Given the description of an element on the screen output the (x, y) to click on. 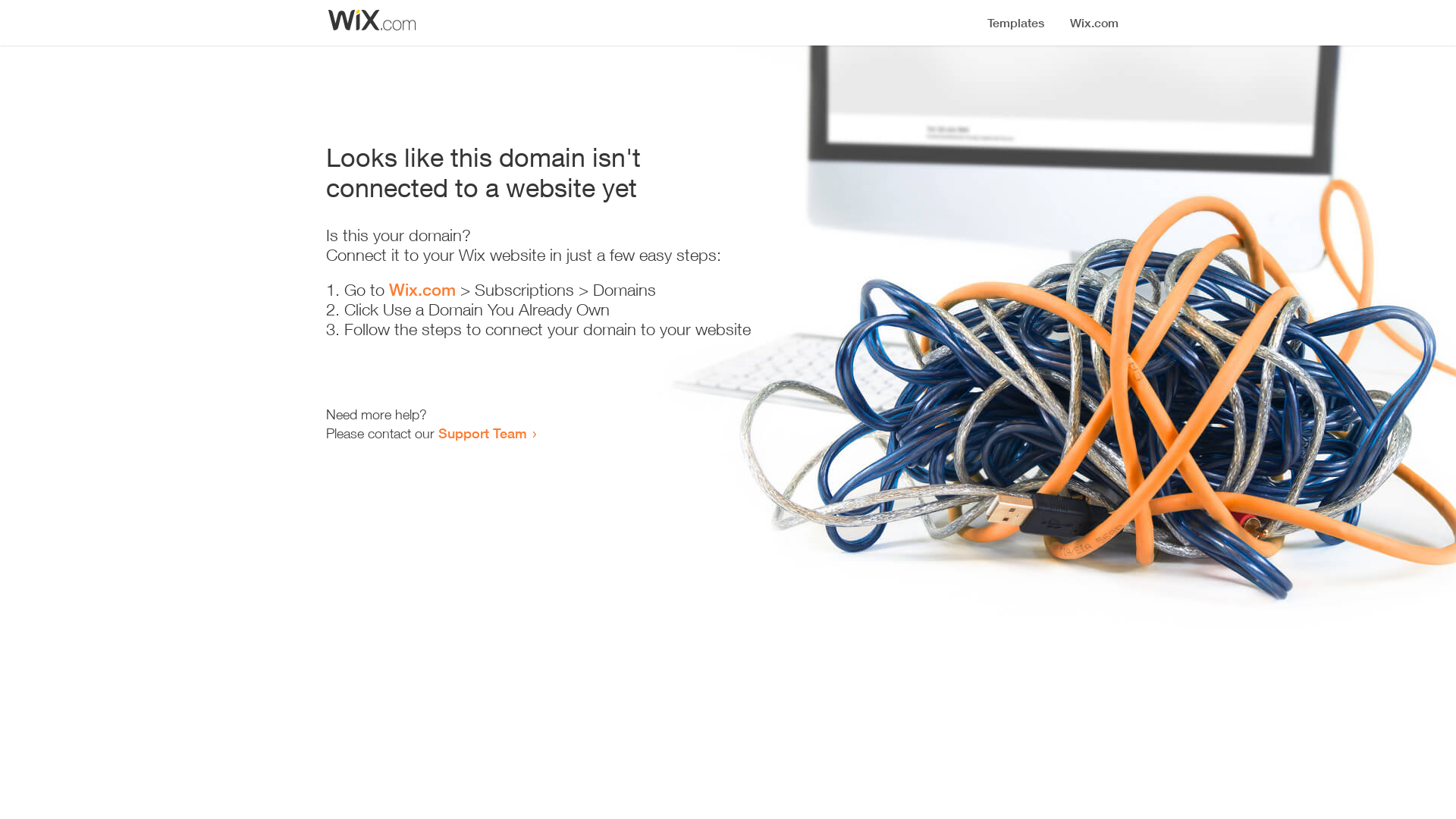
Support Team Element type: text (482, 432)
Wix.com Element type: text (422, 289)
